Given the description of an element on the screen output the (x, y) to click on. 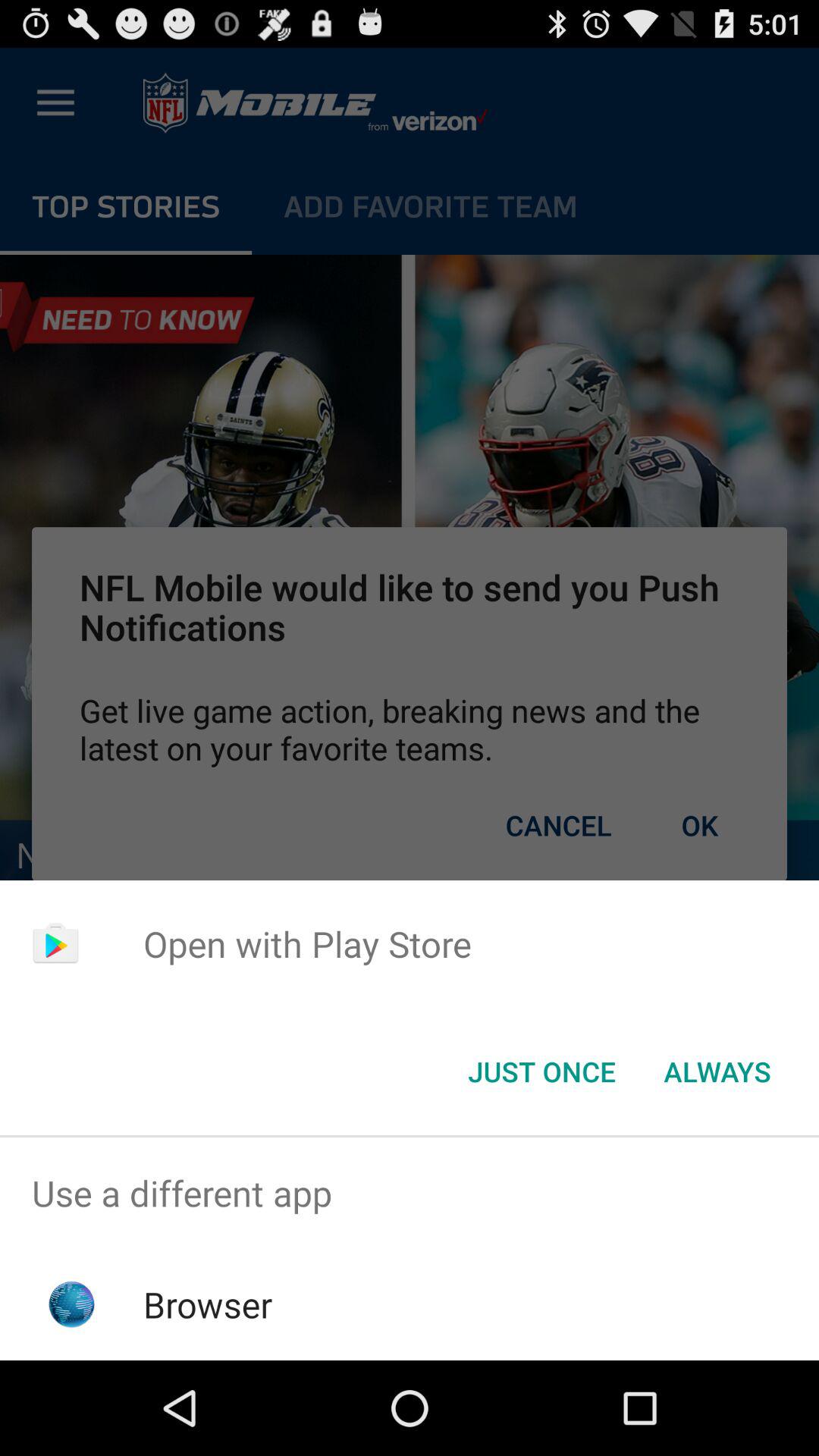
click the icon to the right of the just once icon (717, 1071)
